Given the description of an element on the screen output the (x, y) to click on. 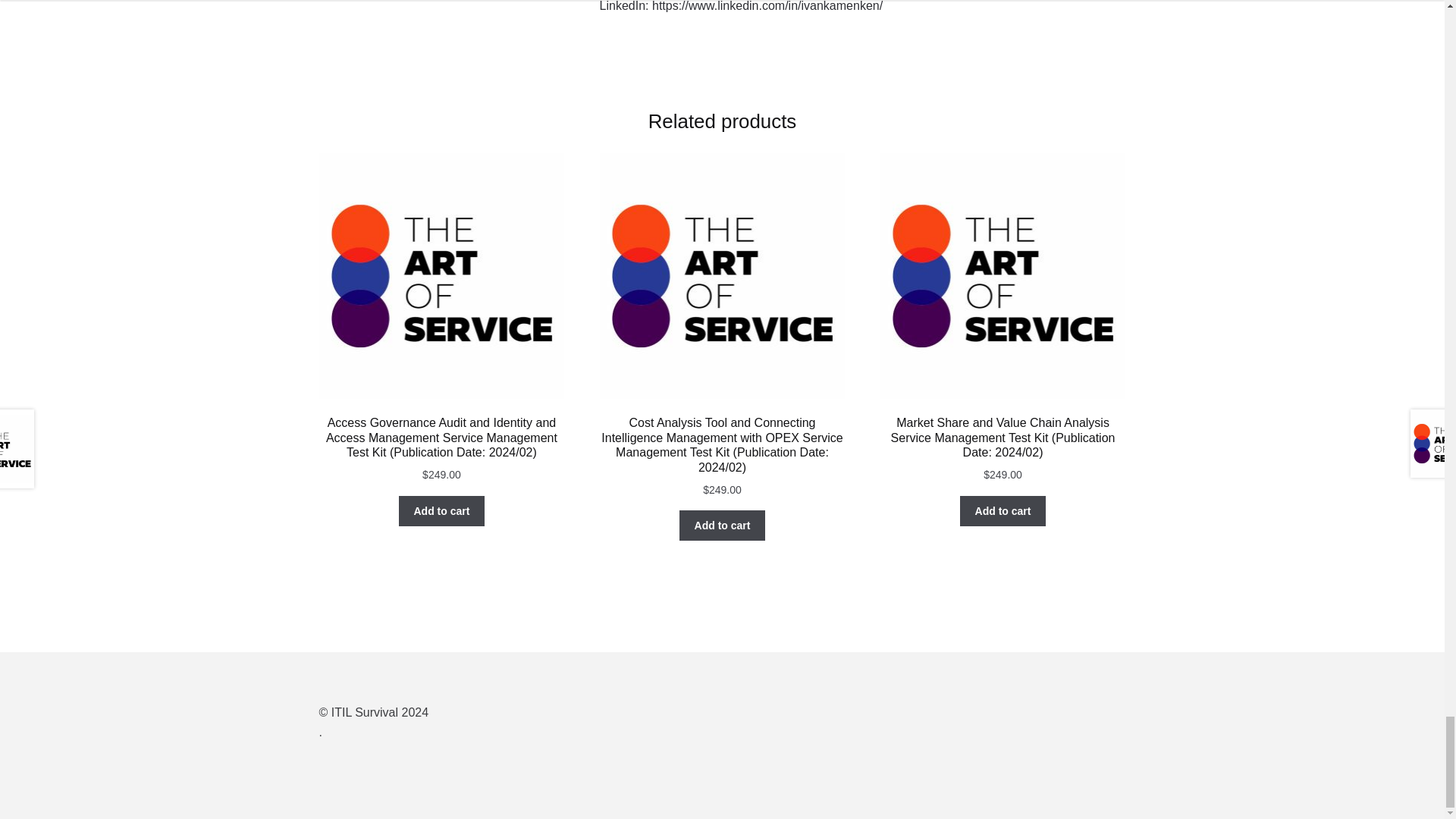
Add to cart (1002, 511)
Add to cart (441, 511)
Add to cart (722, 525)
